Given the description of an element on the screen output the (x, y) to click on. 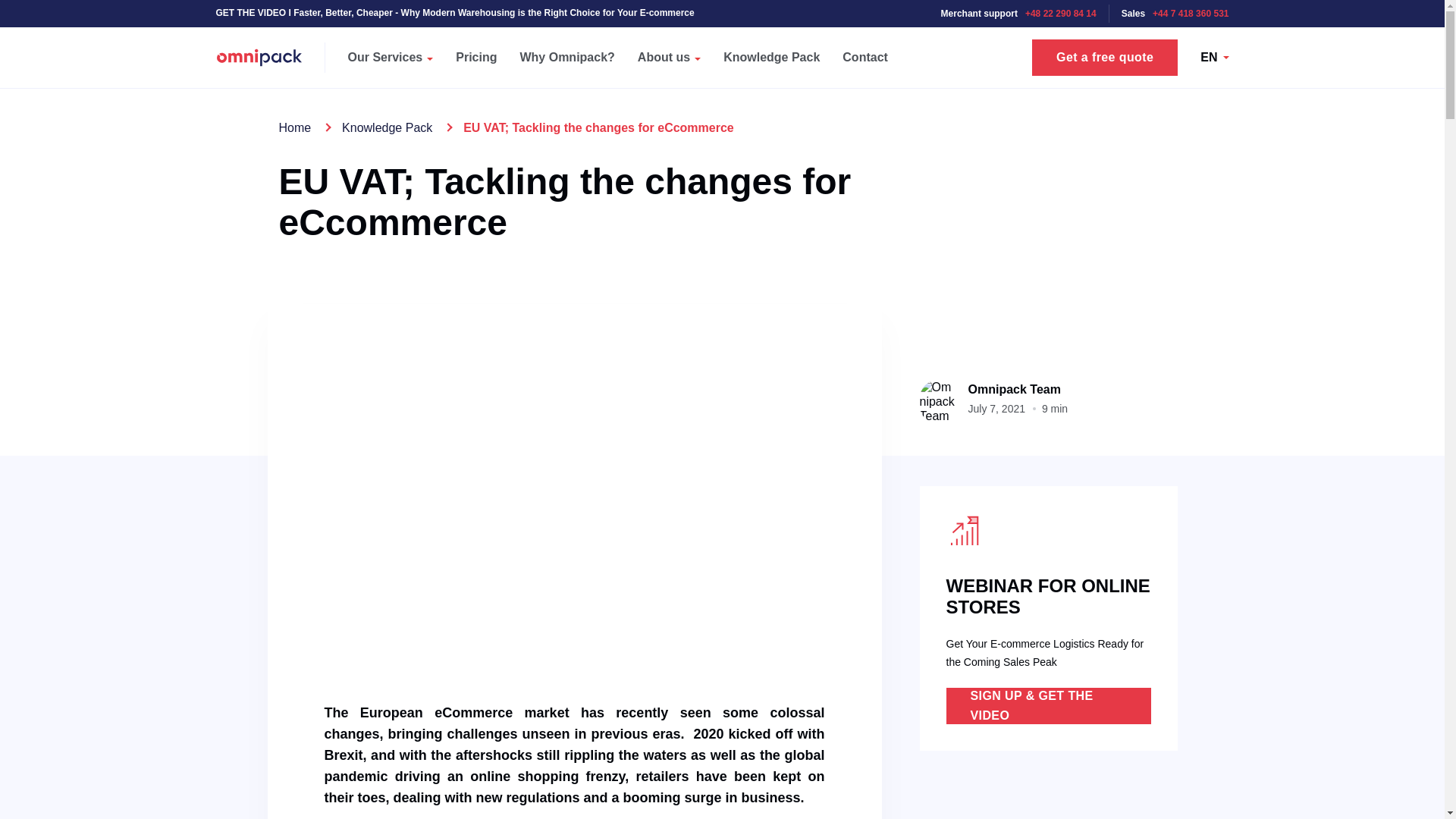
About us (668, 57)
Why Omnipack? (567, 57)
Warehousing (365, 10)
Knowledge Pack (771, 57)
Home (295, 127)
Our Services (390, 57)
Get a free quote (1104, 57)
Goods inbound (248, 10)
Delivery (590, 10)
